Given the description of an element on the screen output the (x, y) to click on. 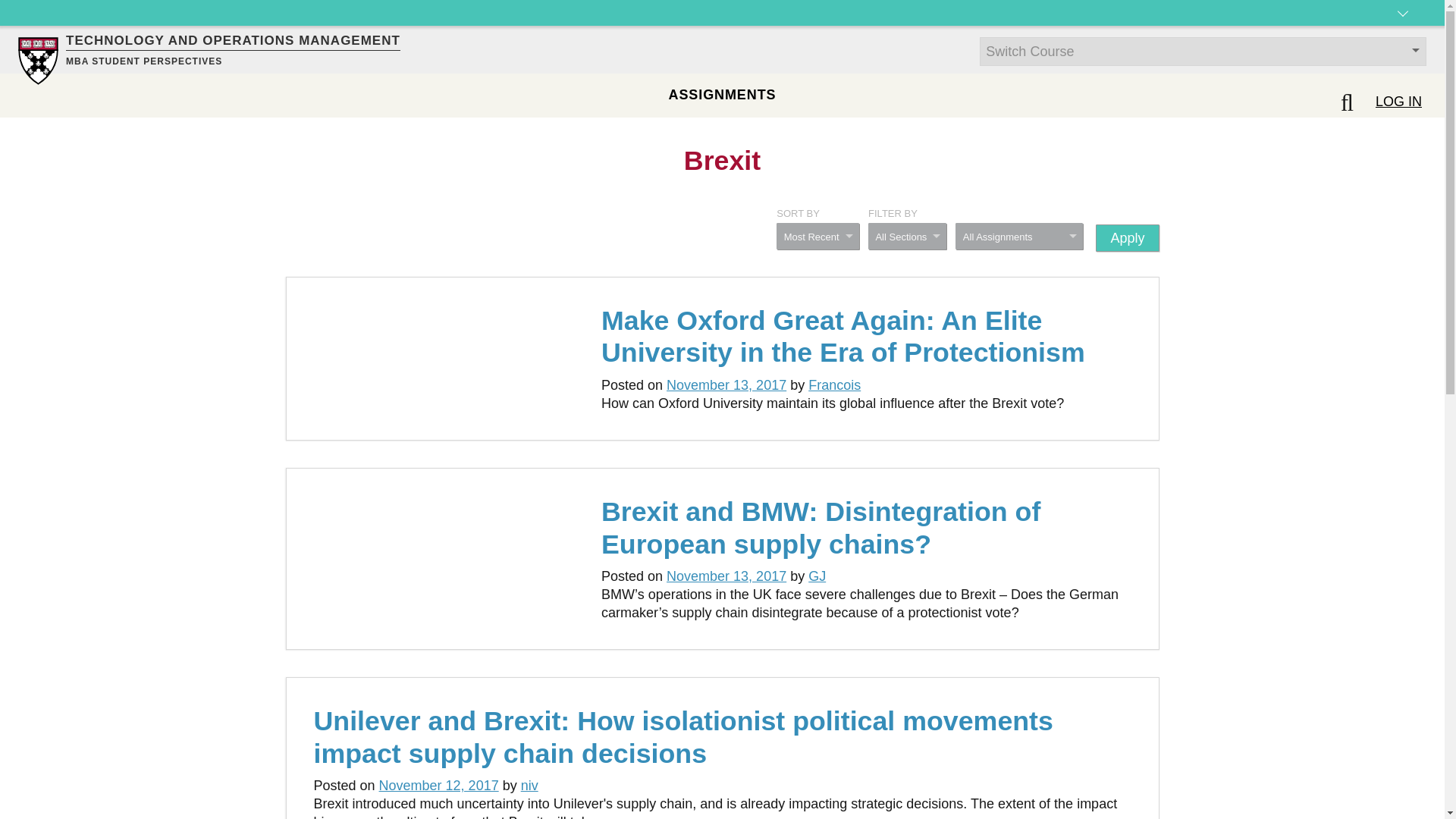
LOG IN (1398, 101)
ASSIGNMENTS (722, 94)
Expand. (1403, 26)
Apply (1127, 237)
GJ (816, 575)
November 13, 2017 (726, 575)
Brexit and BMW: Disintegration of European supply chains? (821, 527)
niv (529, 785)
November 13, 2017 (726, 385)
Francois (834, 385)
Go (18, 9)
November 12, 2017 (438, 785)
Apply (1127, 237)
